Given the description of an element on the screen output the (x, y) to click on. 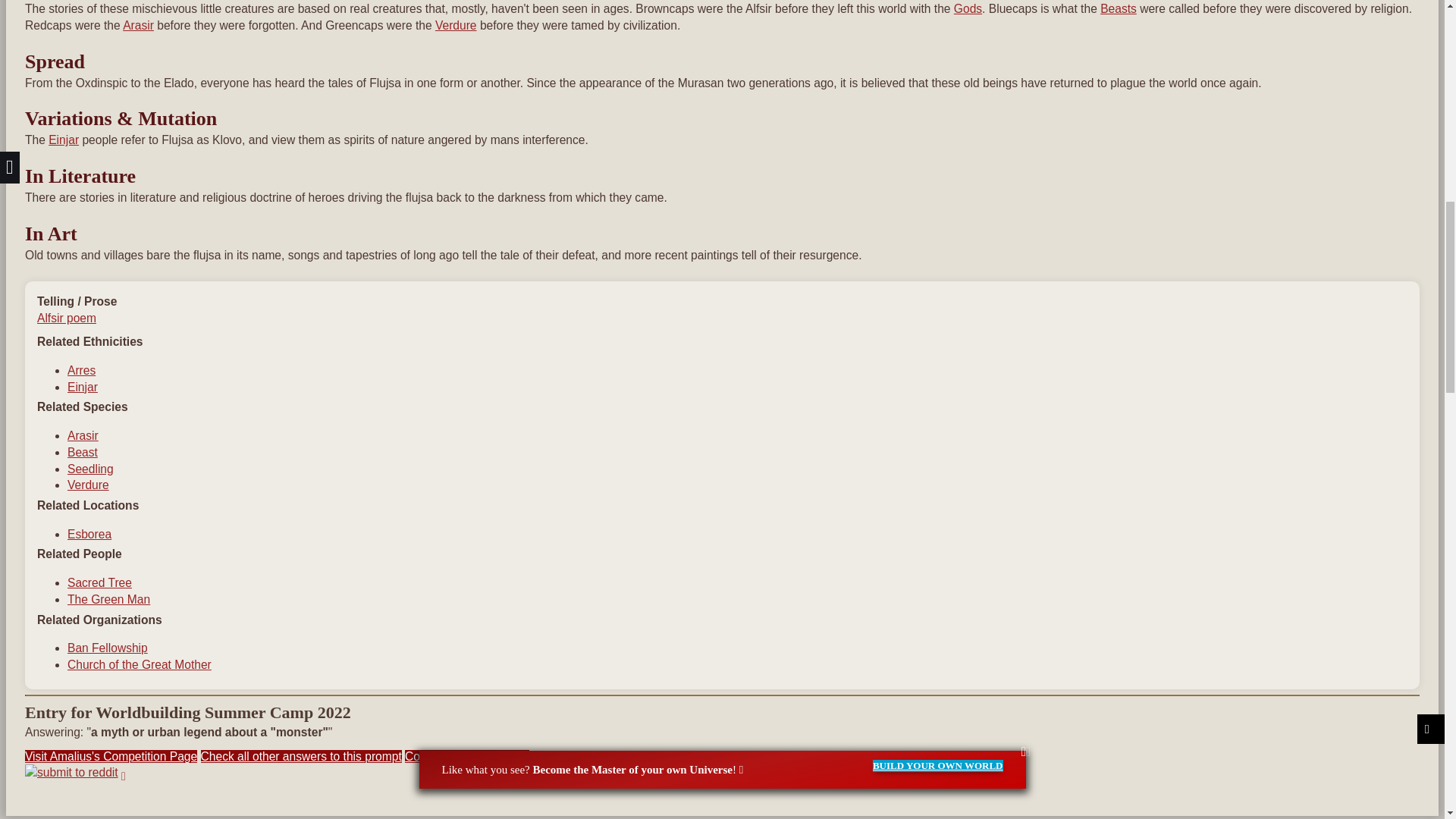
Verdure (456, 24)
Einjar (63, 139)
Beasts (1118, 8)
Church of the Great Mother (138, 664)
Seedling (89, 468)
Sacred Tree (99, 582)
Esborea (89, 533)
Ban Fellowship (107, 647)
Arres (81, 369)
Check all other answers to this prompt (300, 756)
